Given the description of an element on the screen output the (x, y) to click on. 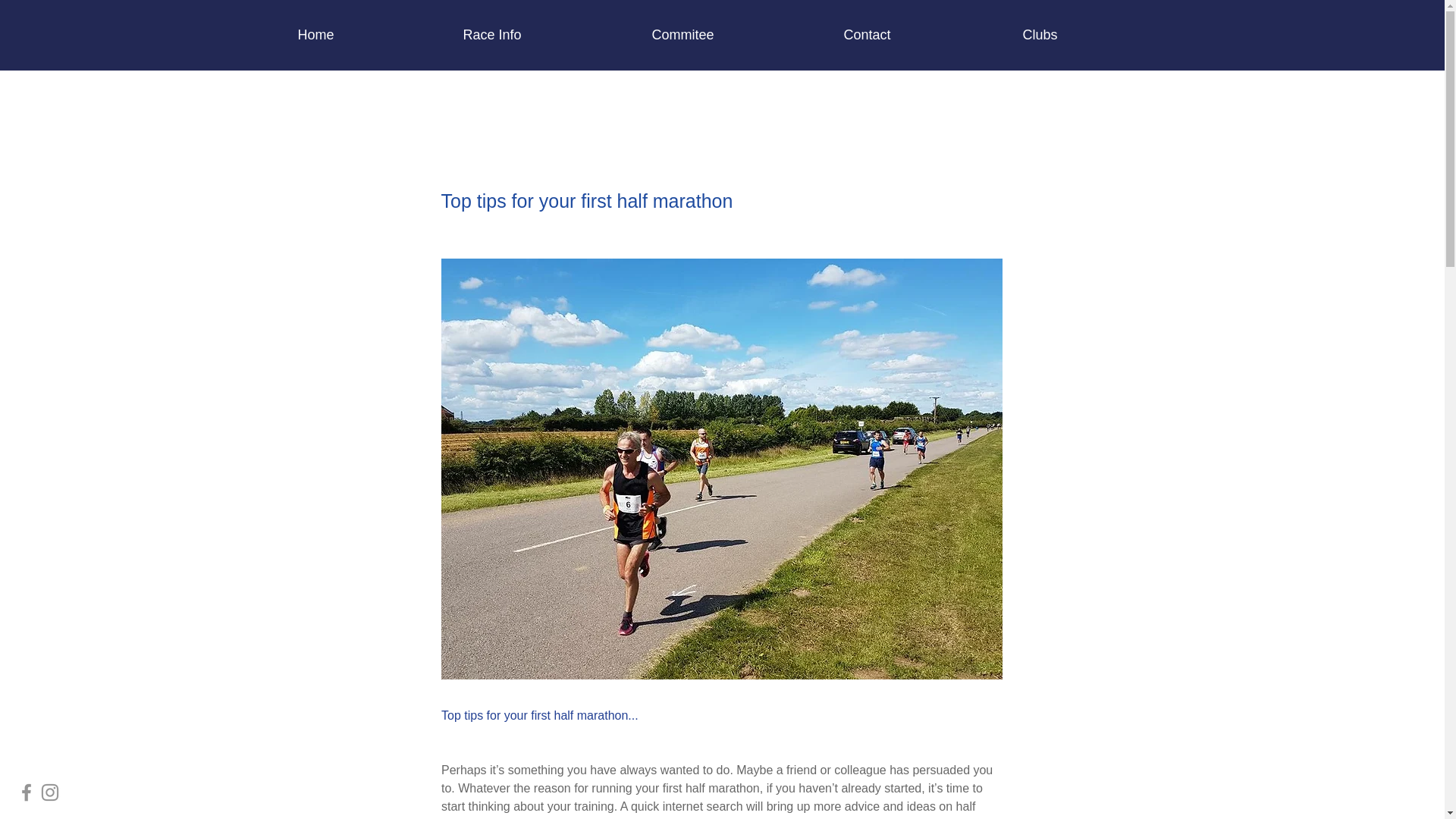
Race Info (545, 34)
Clubs (1092, 34)
Commitee (735, 34)
Home (368, 34)
Contact (921, 34)
